Given the description of an element on the screen output the (x, y) to click on. 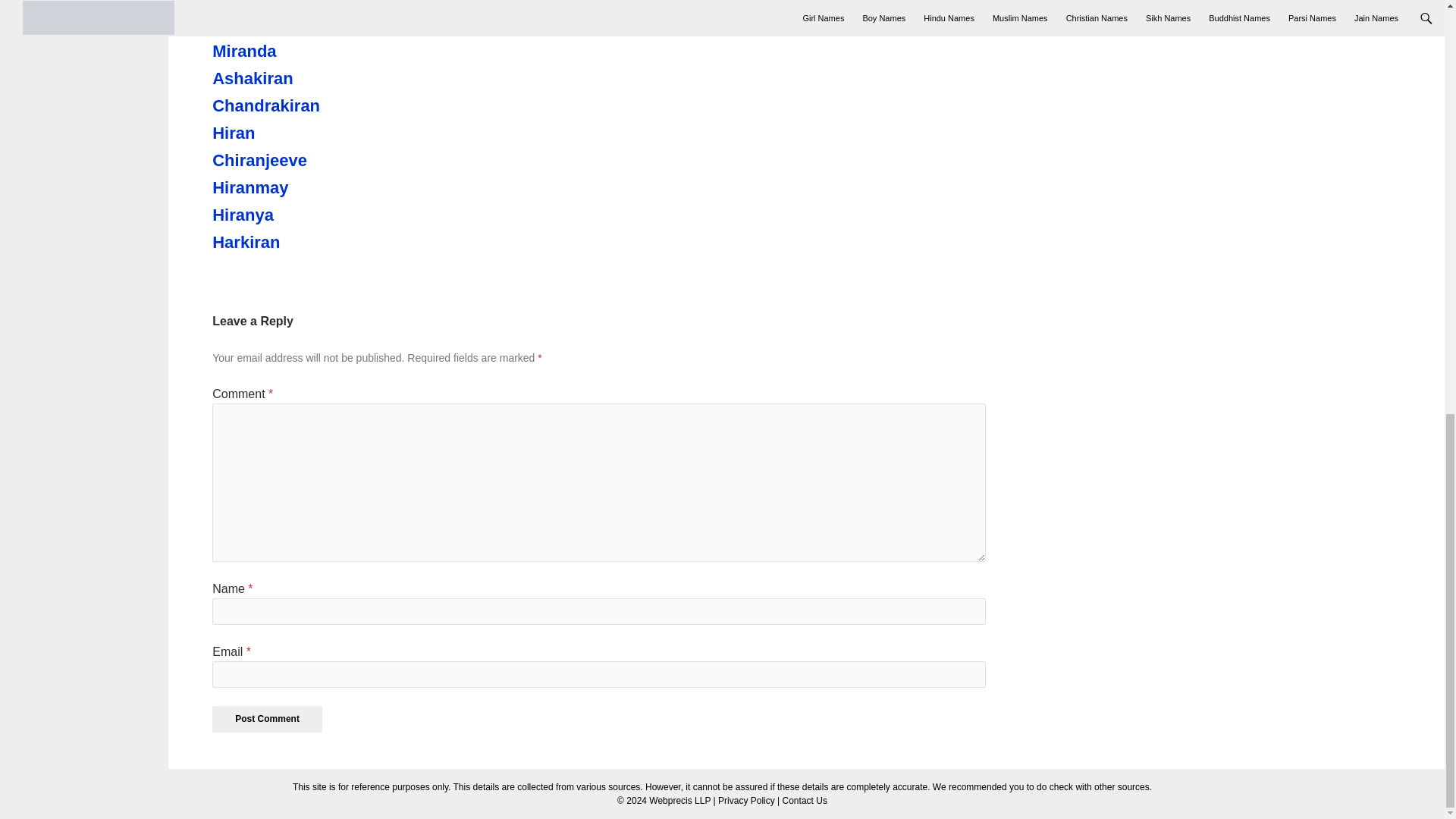
Hiranya (295, 215)
Miranda (295, 51)
Chandrakiran (295, 106)
Ashakiran (295, 78)
Niran (295, 24)
Post Comment (266, 718)
Harkiran (295, 242)
Hiranmay (295, 188)
Post Comment (266, 718)
Siran (295, 2)
Hiran (295, 133)
Chiranjeeve (295, 160)
